Given the description of an element on the screen output the (x, y) to click on. 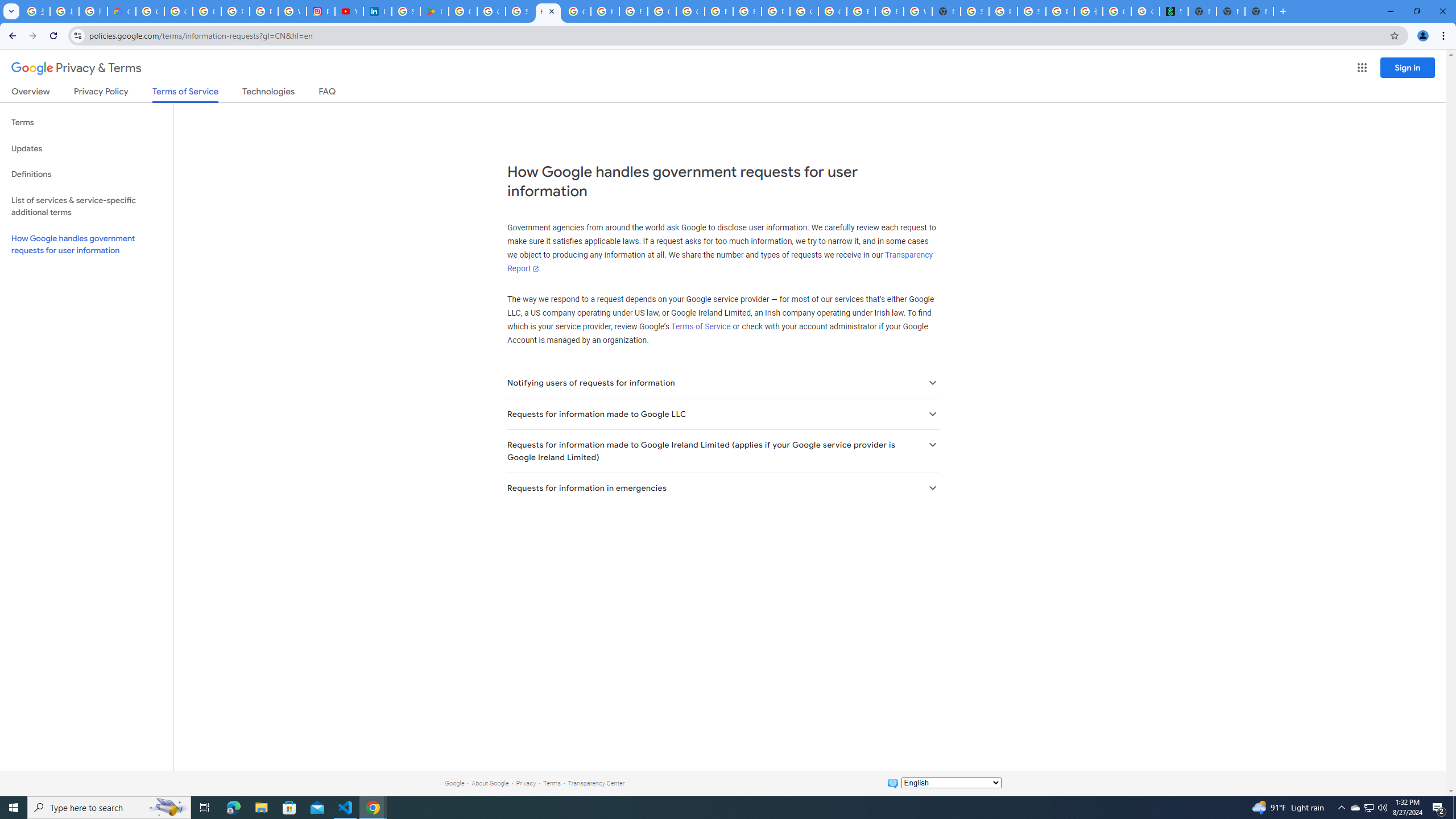
Transparency Report (719, 262)
Requests for information made to Google LLC (722, 413)
Change language: (951, 782)
Last Shelter: Survival - Apps on Google Play (434, 11)
